Given the description of an element on the screen output the (x, y) to click on. 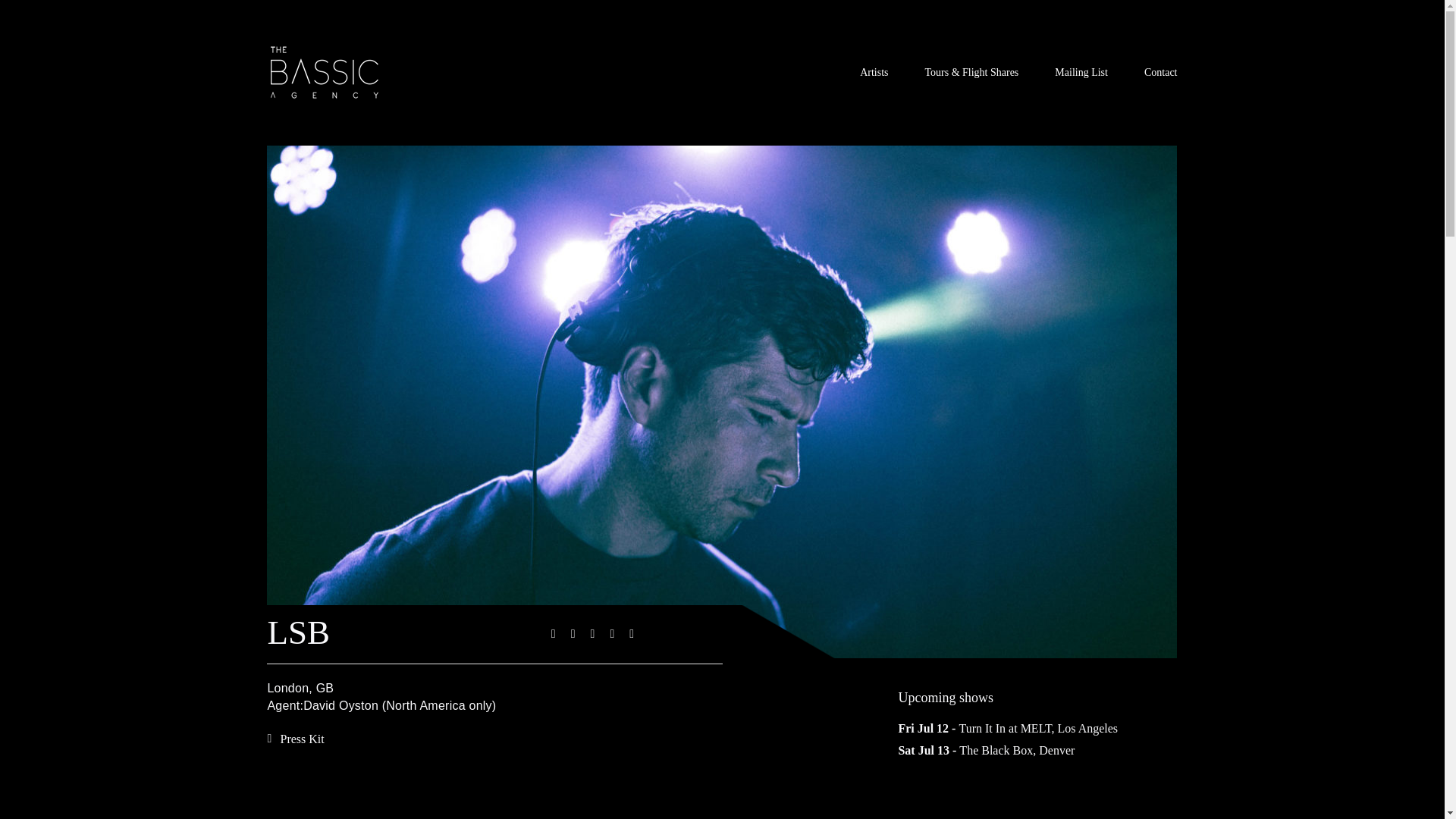
Press Kit (294, 738)
